Given the description of an element on the screen output the (x, y) to click on. 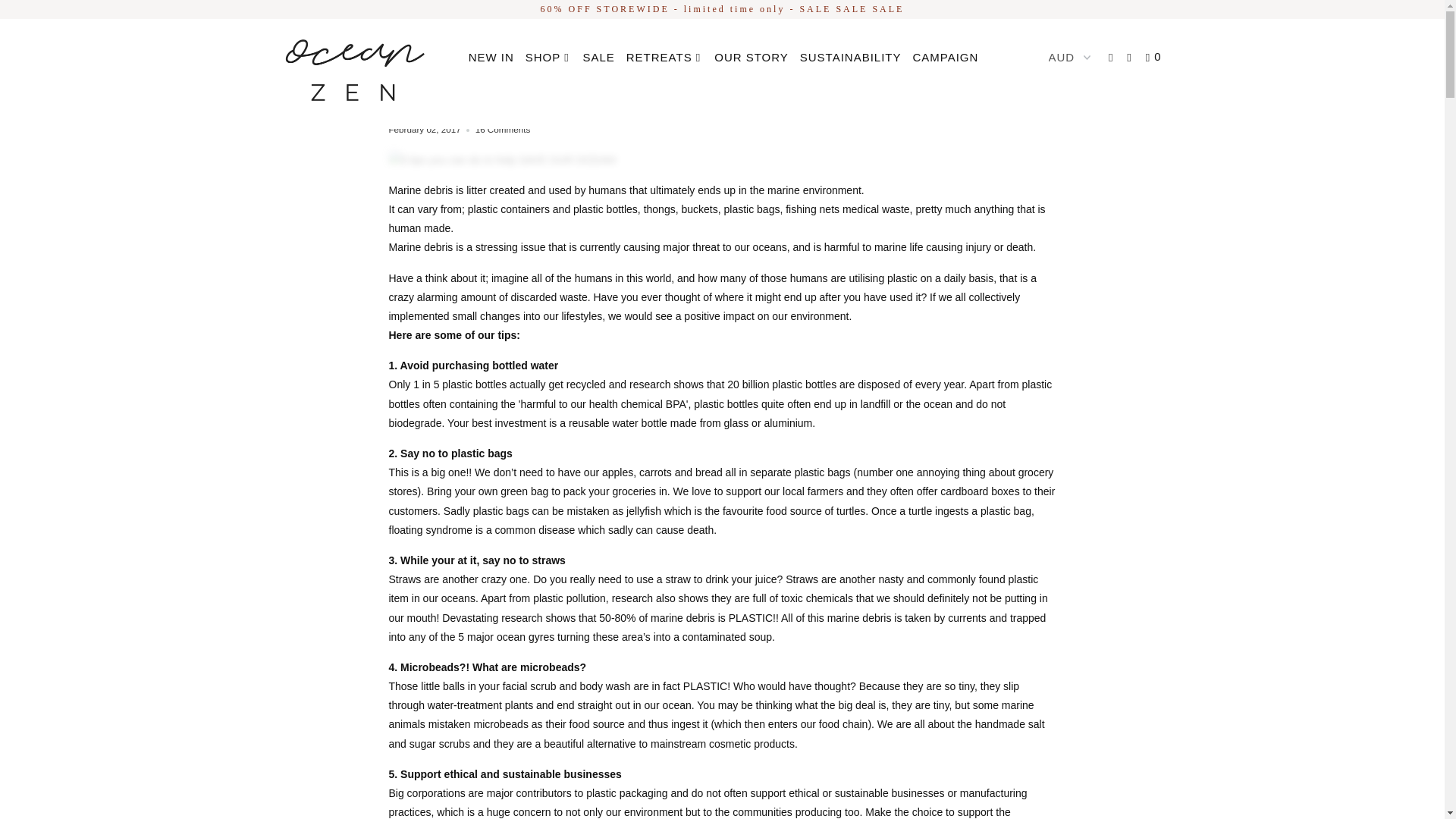
SALE (598, 57)
0 (1154, 57)
Search (1130, 57)
RETREATS (664, 57)
My Account  (1111, 57)
OceanZen Bikini (352, 73)
SHOP (548, 57)
NEW IN (490, 57)
